Given the description of an element on the screen output the (x, y) to click on. 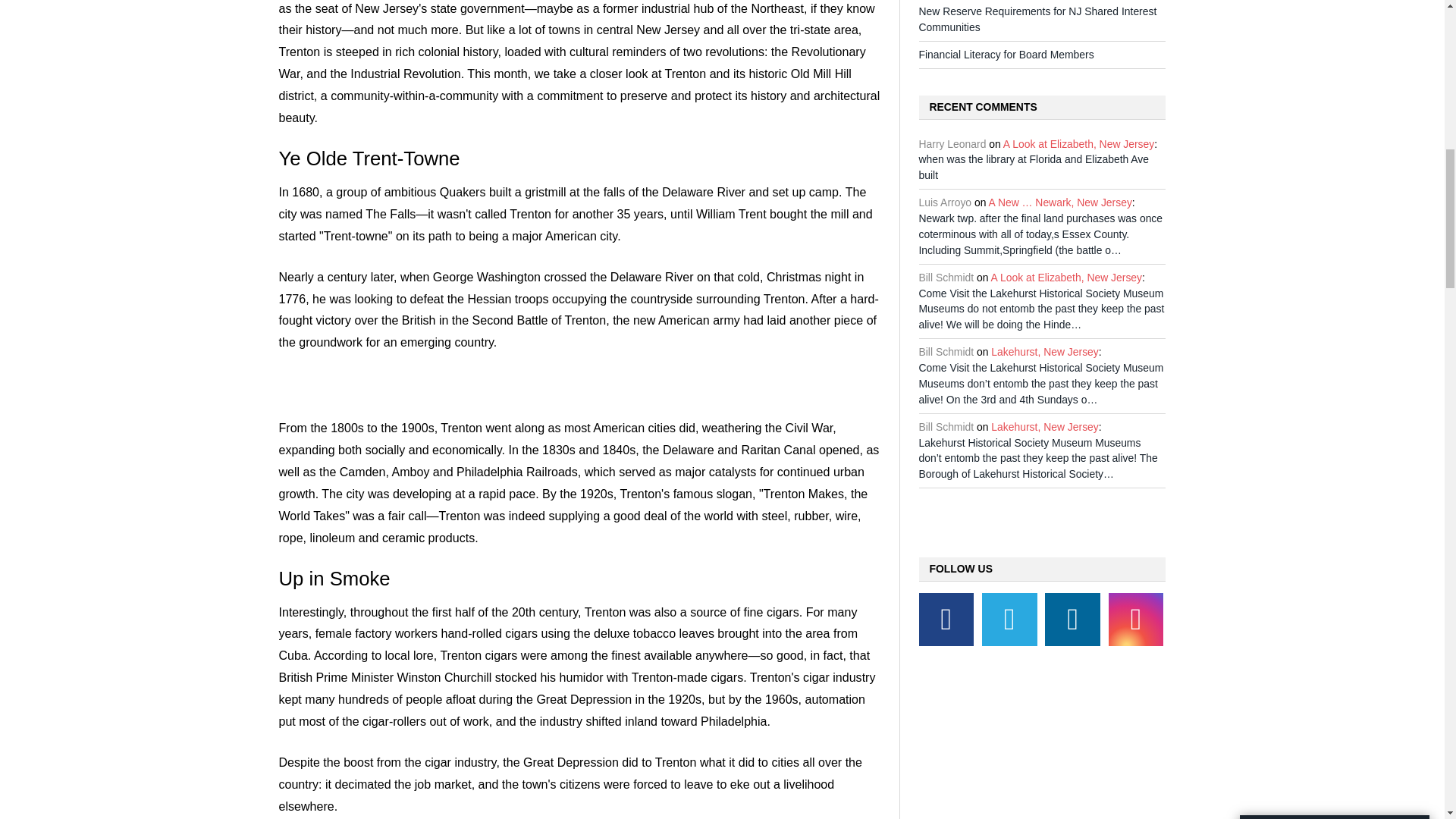
Facebook (946, 619)
LinkedIn (1072, 619)
Instagram (1135, 619)
Twitter (1008, 619)
Subscribe to Newsletter (1334, 103)
